Given the description of an element on the screen output the (x, y) to click on. 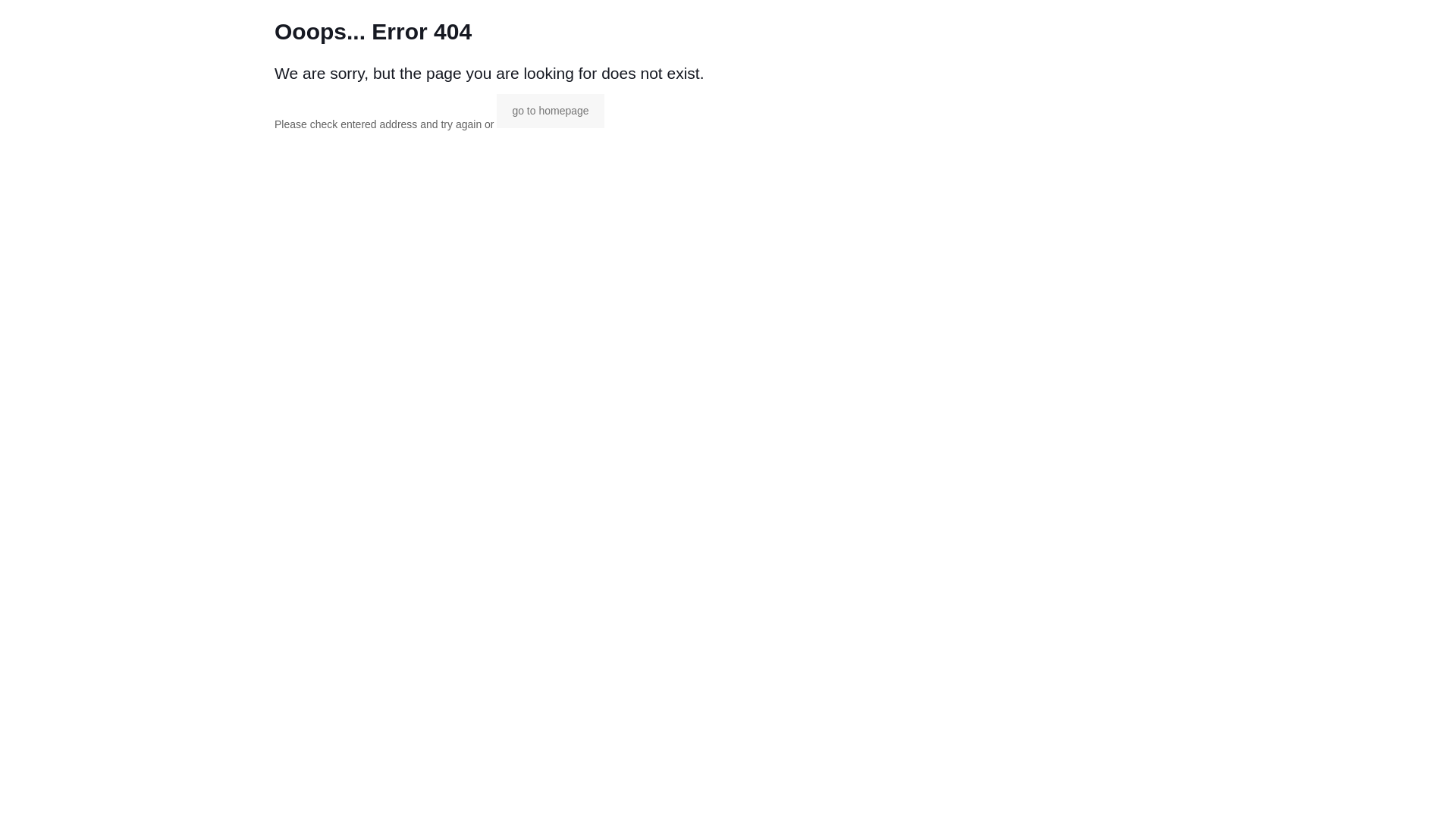
go to homepage Element type: text (549, 111)
